Given the description of an element on the screen output the (x, y) to click on. 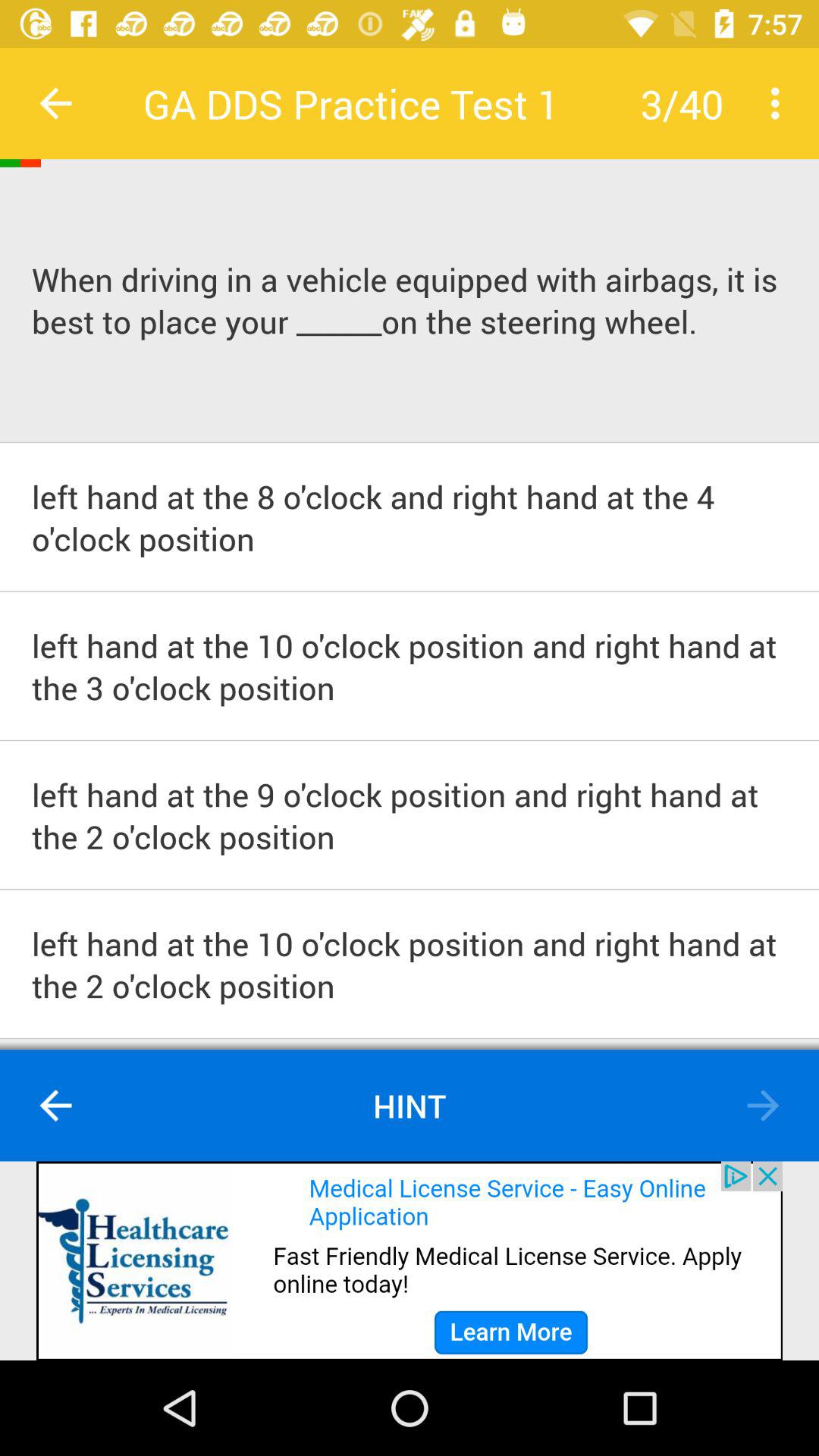
open advertisement (409, 1260)
